Given the description of an element on the screen output the (x, y) to click on. 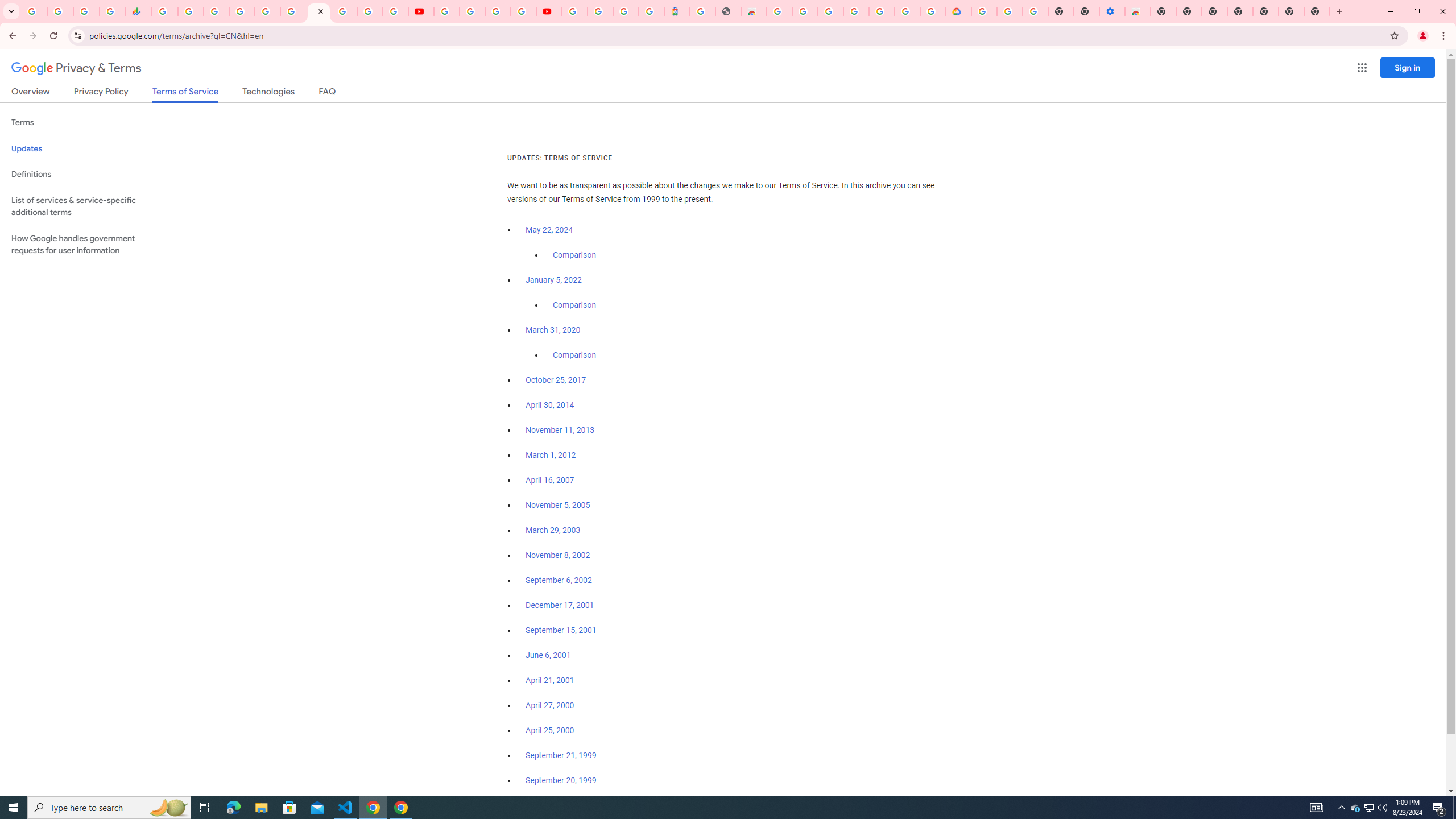
Sign in - Google Accounts (344, 11)
YouTube (421, 11)
Sign in - Google Accounts (600, 11)
September 6, 2002 (558, 579)
Atour Hotel - Google hotels (676, 11)
Create your Google Account (497, 11)
September 21, 1999 (560, 755)
